Given the description of an element on the screen output the (x, y) to click on. 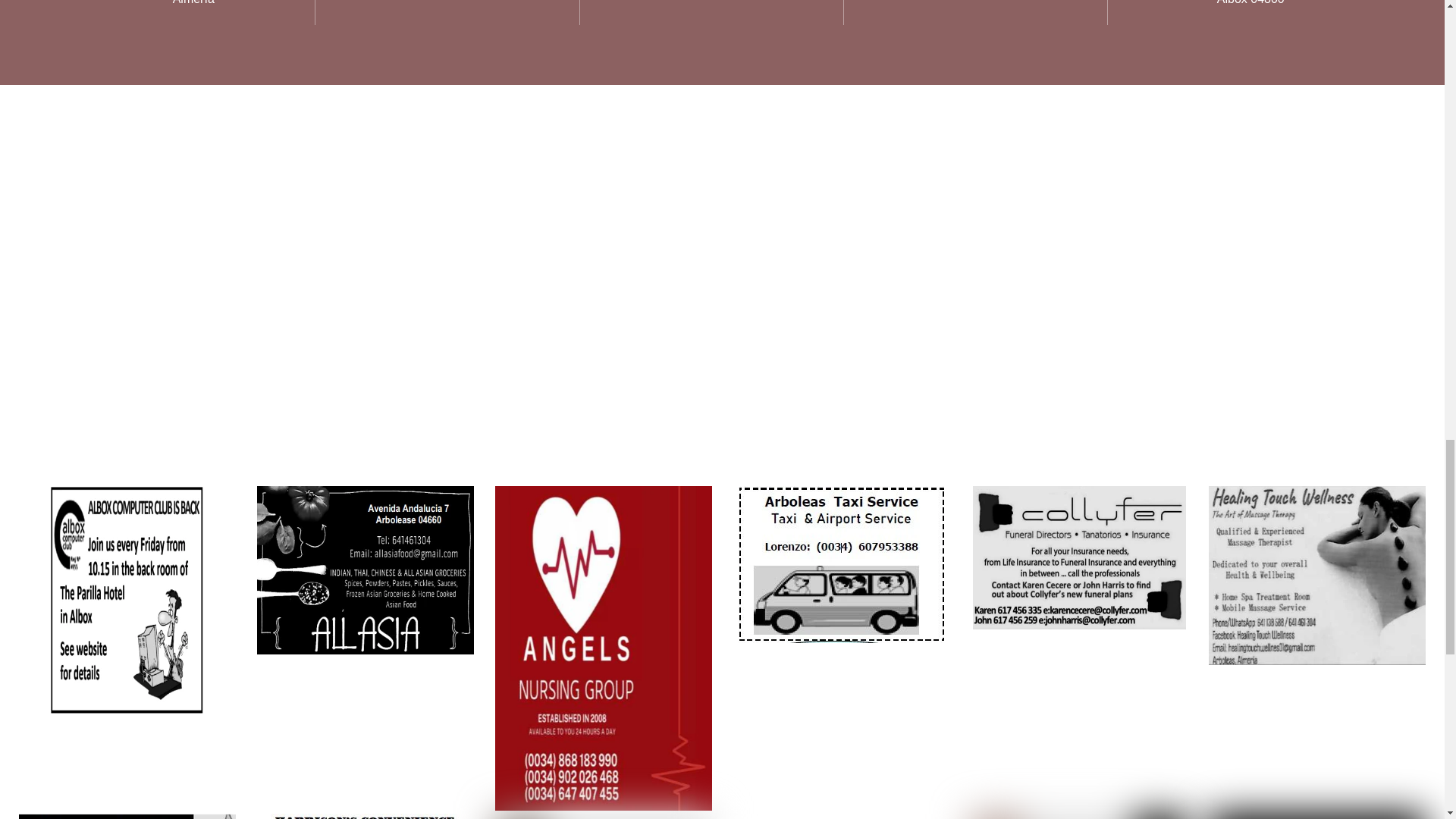
Arboleas Taxi - May 2021 (841, 564)
Albox Computer Club - Sept 2023 (126, 600)
All Asia Dec 2023 (365, 570)
angels nursing group for agof - nov 2022 (603, 648)
